Given the description of an element on the screen output the (x, y) to click on. 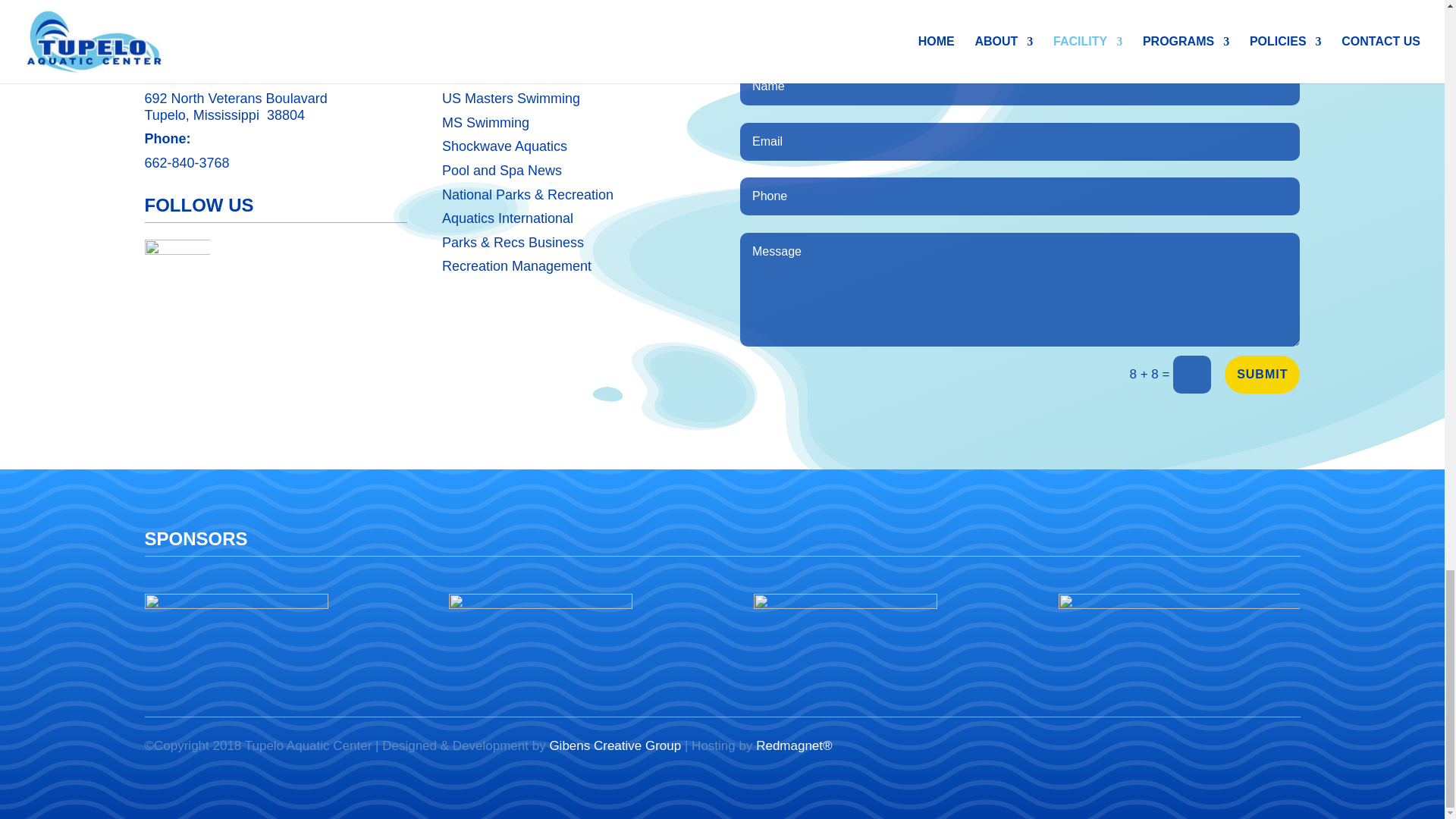
sponsorElvis (845, 635)
Cadence Bank logo (1179, 633)
followicon (176, 272)
MS Swimming (485, 122)
USA Swimming (488, 74)
Aquatics International (507, 218)
sponsorTM (539, 635)
US Masters Swimming (510, 98)
662-840-3768 (186, 162)
Shockwave Aquatics (504, 145)
sponsorCoke2 (235, 635)
Pool and Spa News (502, 170)
